Given the description of an element on the screen output the (x, y) to click on. 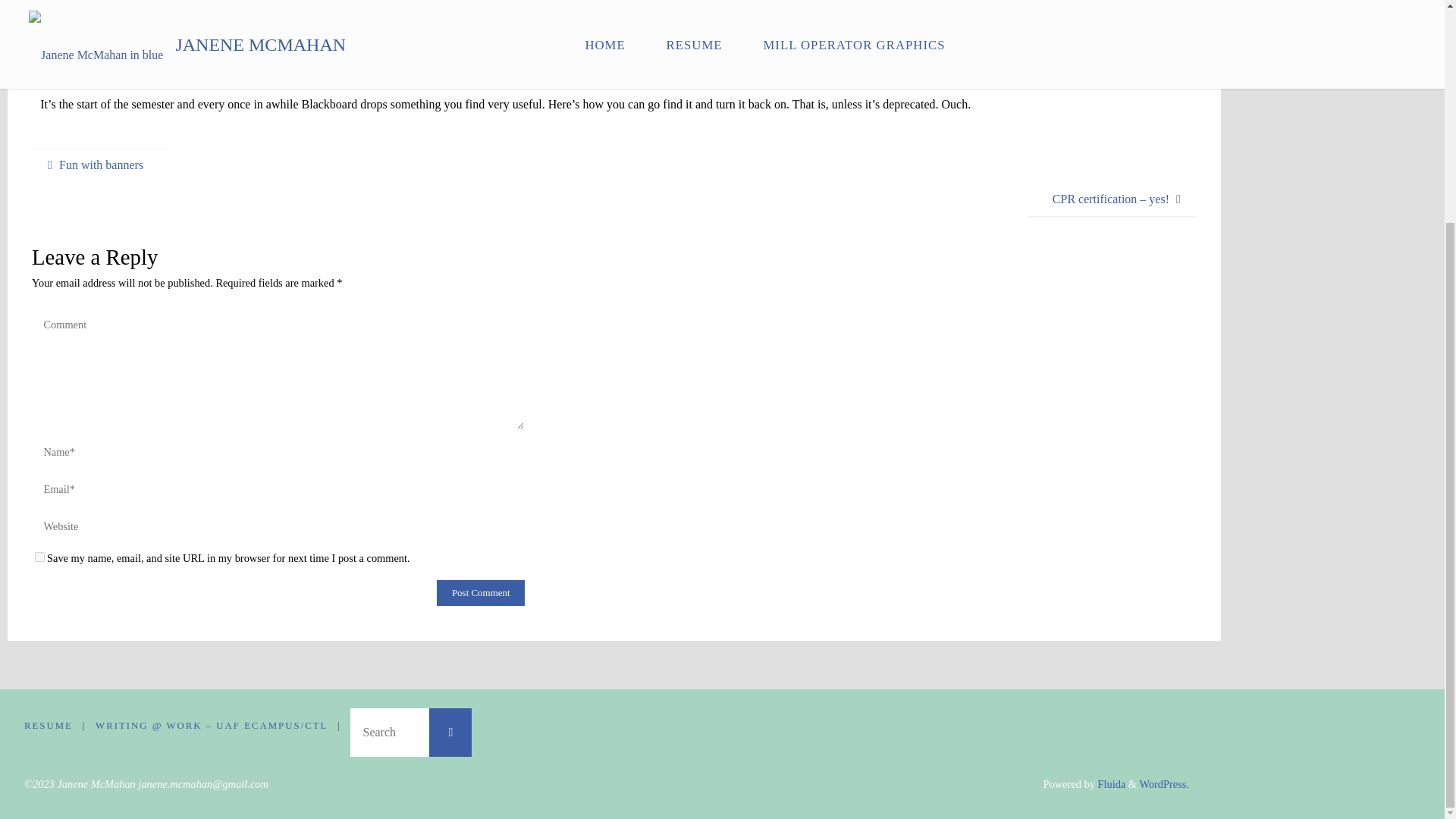
yes (39, 556)
Post Comment (480, 592)
Semantic Personal Publishing Platform (1163, 784)
Fluida WordPress Theme by Cryout Creations (1109, 784)
Fun with banners (99, 165)
Post Comment (480, 592)
Date (39, 51)
Fluida (1109, 784)
WordPress. (1163, 784)
RESUME (48, 725)
